Given the description of an element on the screen output the (x, y) to click on. 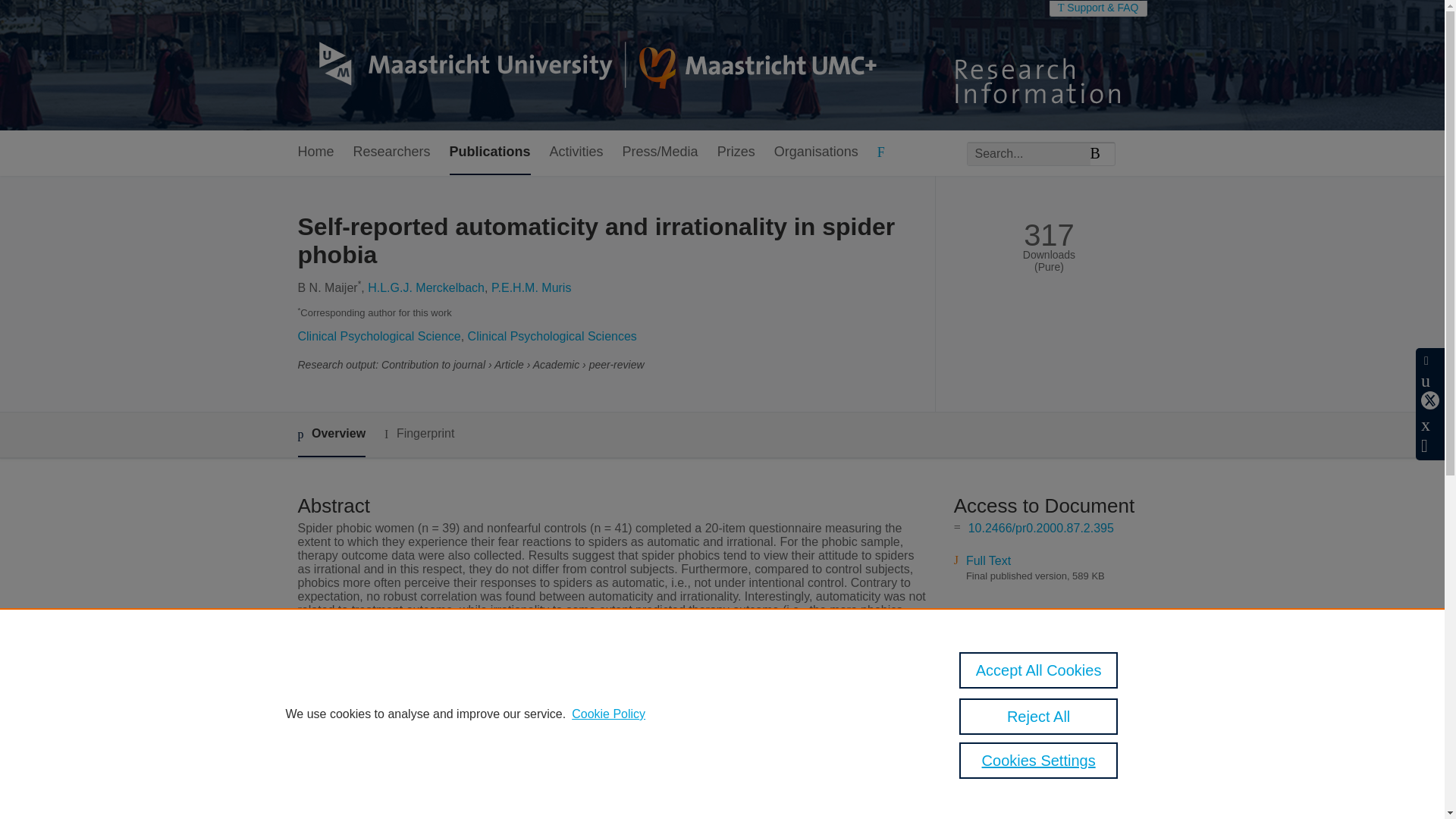
Clinical Psychological Science (378, 336)
Activities (577, 152)
Home (315, 152)
Publications (490, 152)
Full Text (988, 560)
Organisations (816, 152)
H.L.G.J. Merckelbach (426, 287)
Clinical Psychological Sciences (552, 336)
Researchers (391, 152)
Maastricht University Home (586, 64)
Overview (331, 434)
Psychological Reports (569, 697)
P.E.H.M. Muris (532, 287)
Fingerprint (419, 433)
